Given the description of an element on the screen output the (x, y) to click on. 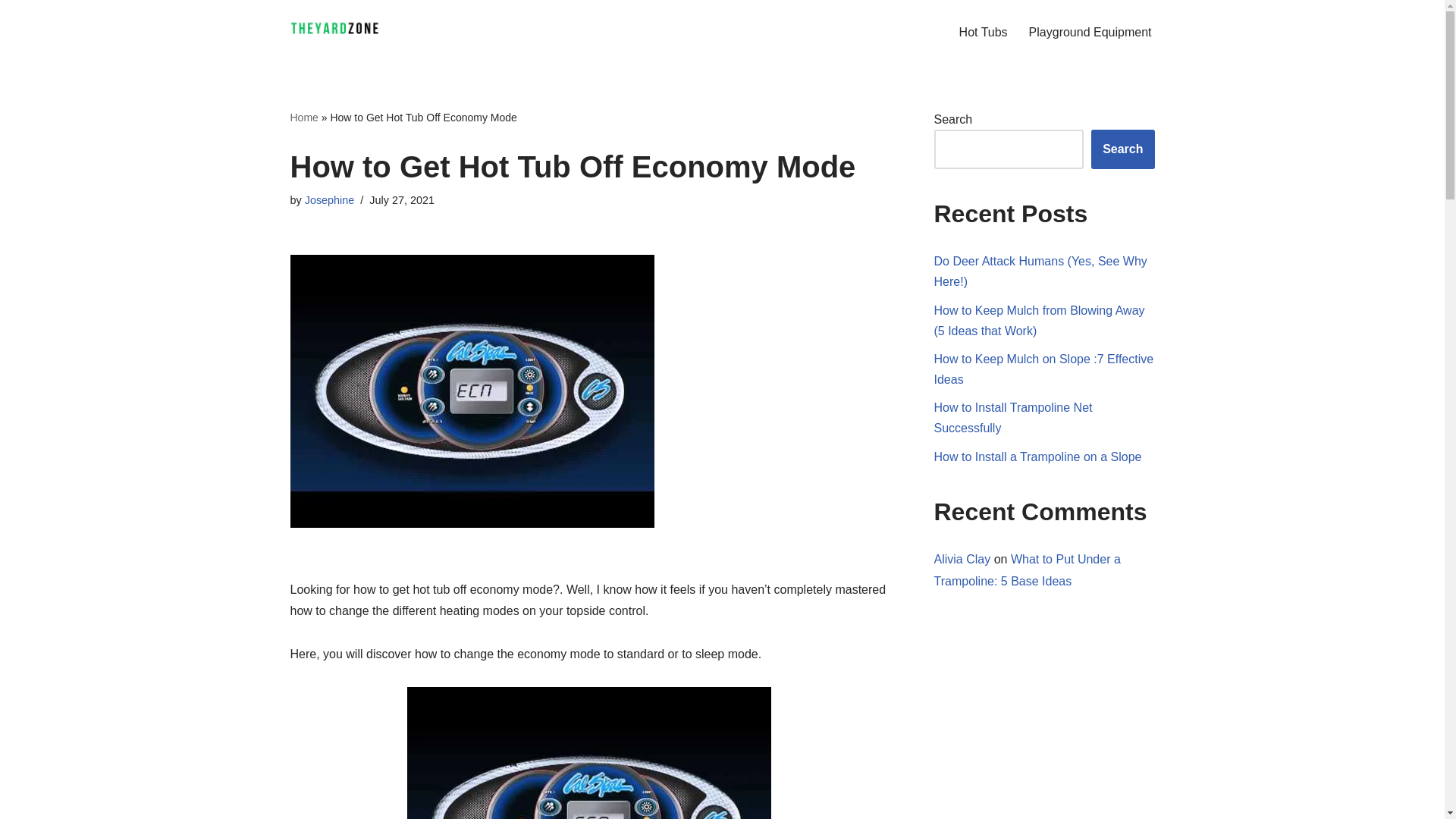
How to Keep Mulch on Slope :7 Effective Ideas (1044, 368)
How to Install Trampoline Net Successfully (1013, 417)
Posts by Josephine (329, 200)
How to Install a Trampoline on a Slope (1037, 456)
Search (1122, 148)
What to Put Under a Trampoline: 5 Base Ideas (1027, 570)
Playground Equipment (1090, 32)
Home (303, 117)
Alivia Clay (962, 558)
Skip to content (11, 31)
Josephine (329, 200)
Hot Tubs (983, 32)
